Given the description of an element on the screen output the (x, y) to click on. 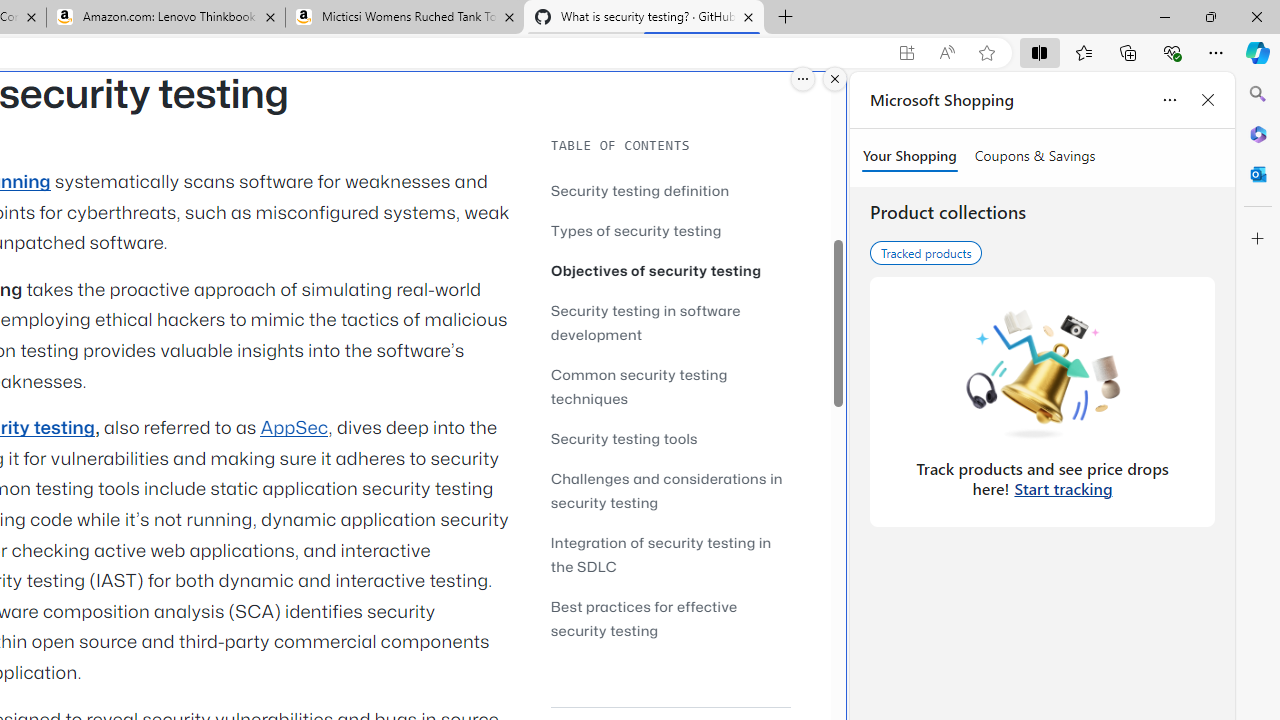
Security testing tools (670, 438)
Best practices for effective security testing (644, 618)
App available. Install GitHub (906, 53)
AppSec (293, 428)
Security testing in software development (645, 321)
Security testing definition (639, 190)
Integration of security testing in the SDLC (670, 553)
